Given the description of an element on the screen output the (x, y) to click on. 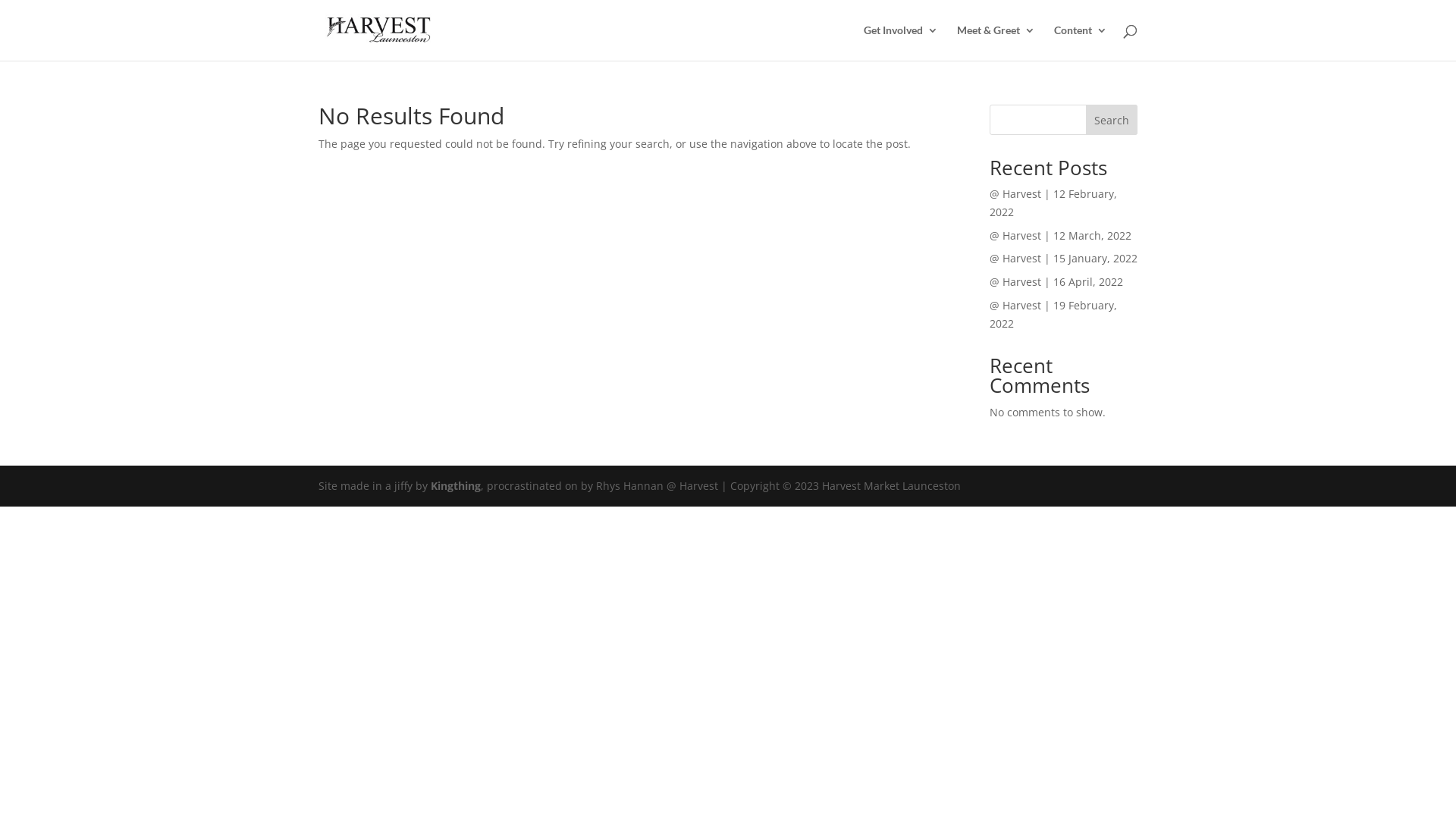
@ Harvest | 12 February, 2022 Element type: text (1053, 202)
@ Harvest | 19 February, 2022 Element type: text (1053, 314)
Content Element type: text (1080, 42)
Meet & Greet Element type: text (996, 42)
Get Involved Element type: text (900, 42)
@ Harvest | 16 April, 2022 Element type: text (1056, 281)
@ Harvest | 12 March, 2022 Element type: text (1060, 235)
Kingthing Element type: text (455, 485)
@ Harvest | 15 January, 2022 Element type: text (1063, 258)
Search Element type: text (1111, 119)
